Given the description of an element on the screen output the (x, y) to click on. 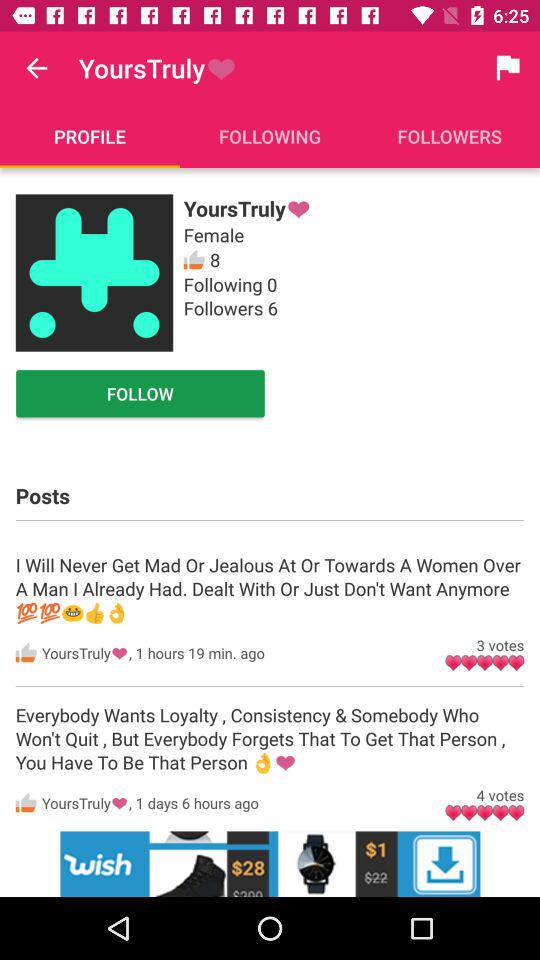
home page (94, 272)
